Given the description of an element on the screen output the (x, y) to click on. 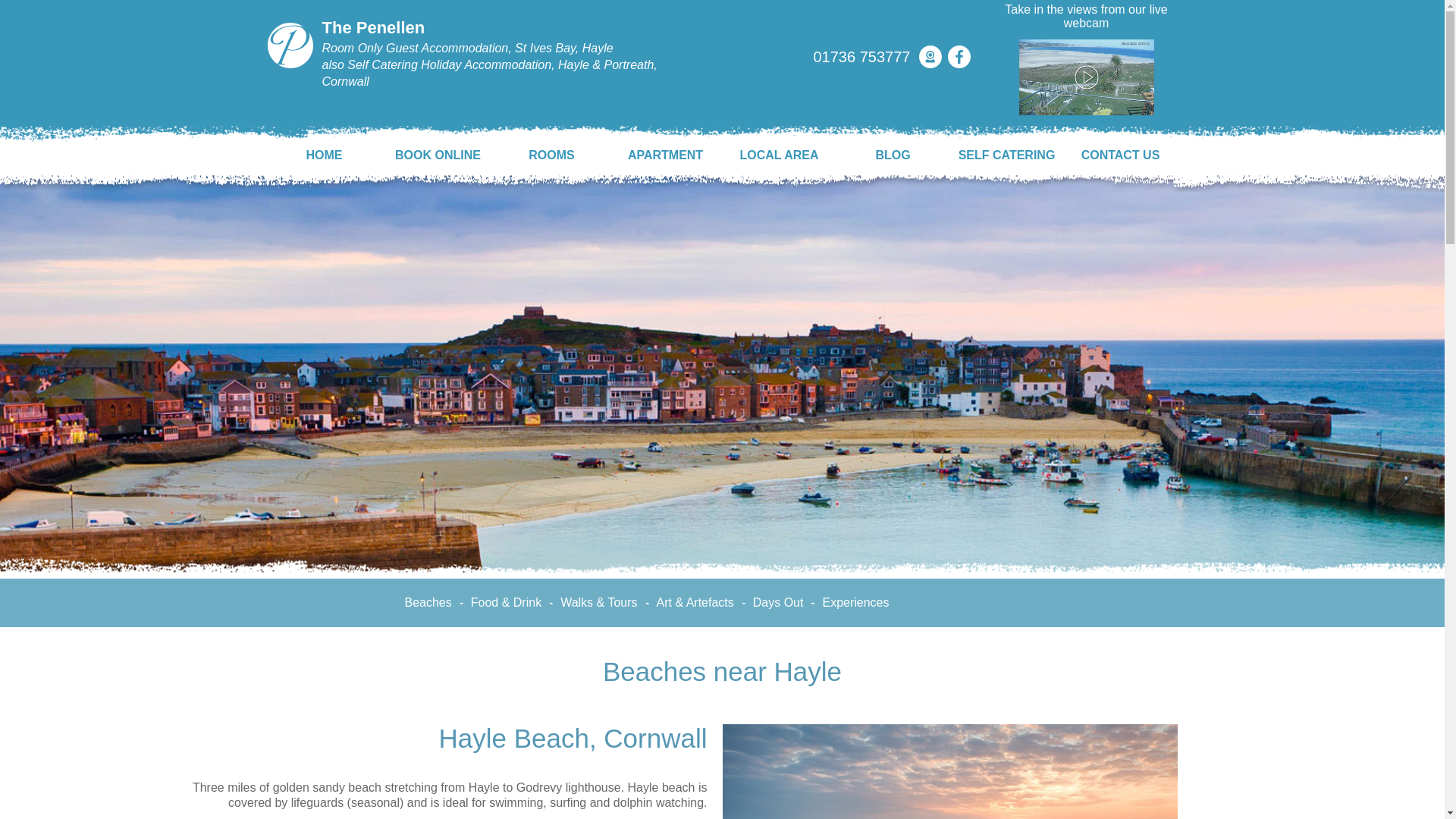
Take in the views from our live webcam (1085, 57)
Apartment (665, 154)
Our Blog (892, 154)
Beaches (427, 602)
Telephone (865, 56)
LOCAL AREA (778, 154)
BOOK ONLINE (437, 154)
Beaches (427, 602)
Local Area (778, 154)
APARTMENT (665, 154)
